Given the description of an element on the screen output the (x, y) to click on. 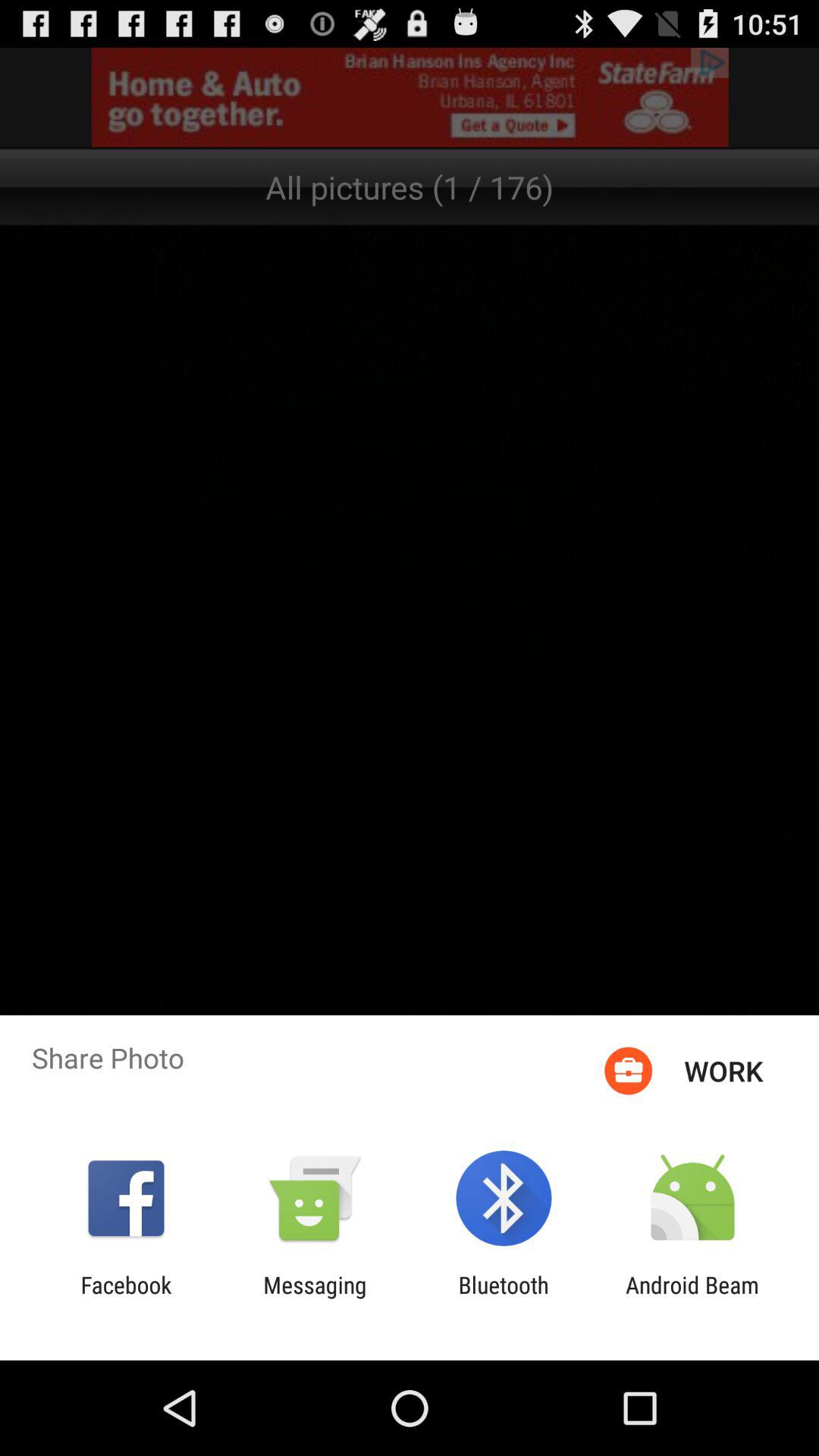
tap app to the right of messaging icon (503, 1298)
